Given the description of an element on the screen output the (x, y) to click on. 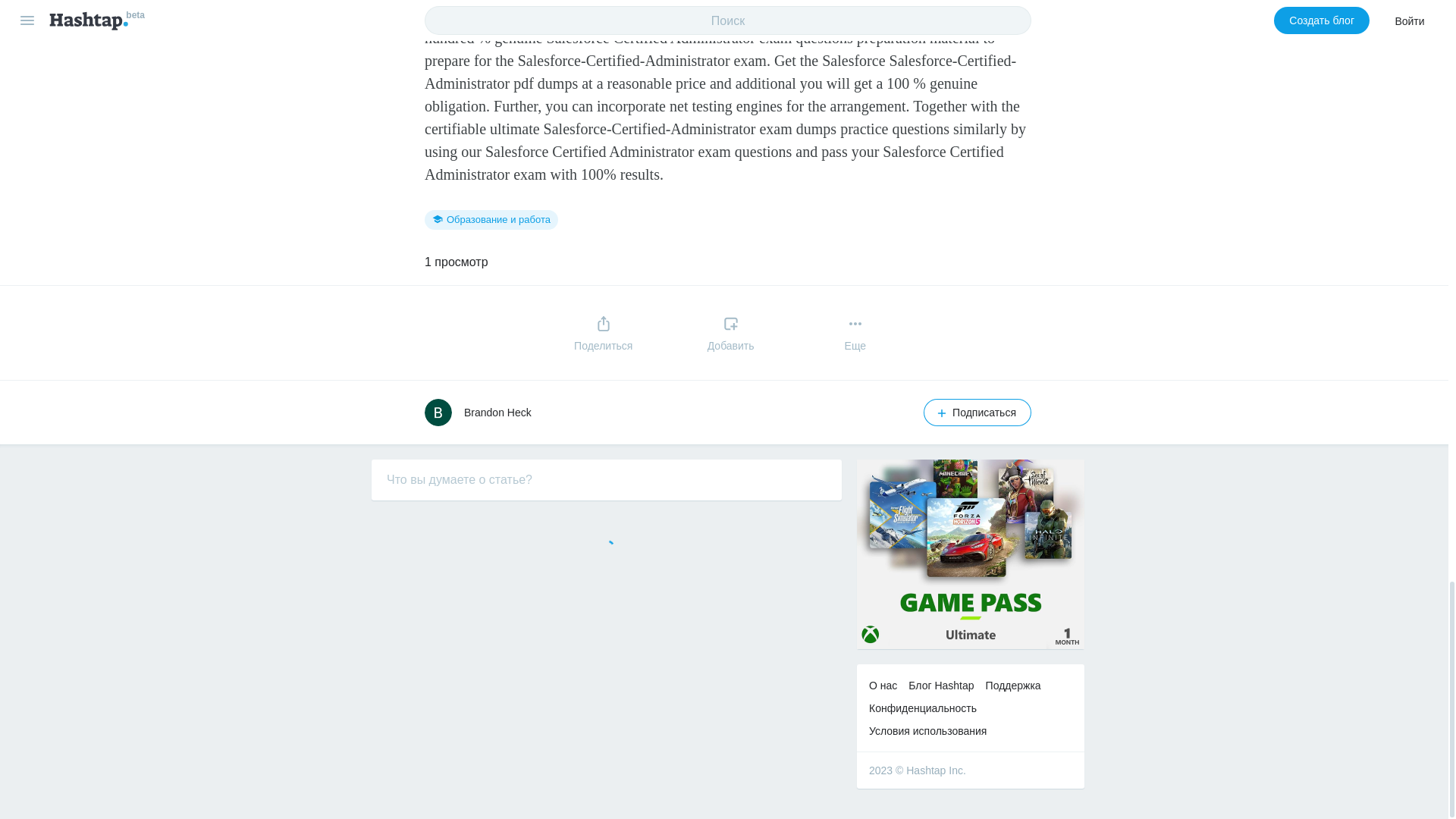
B (438, 411)
Brandon Heck (497, 412)
